Given the description of an element on the screen output the (x, y) to click on. 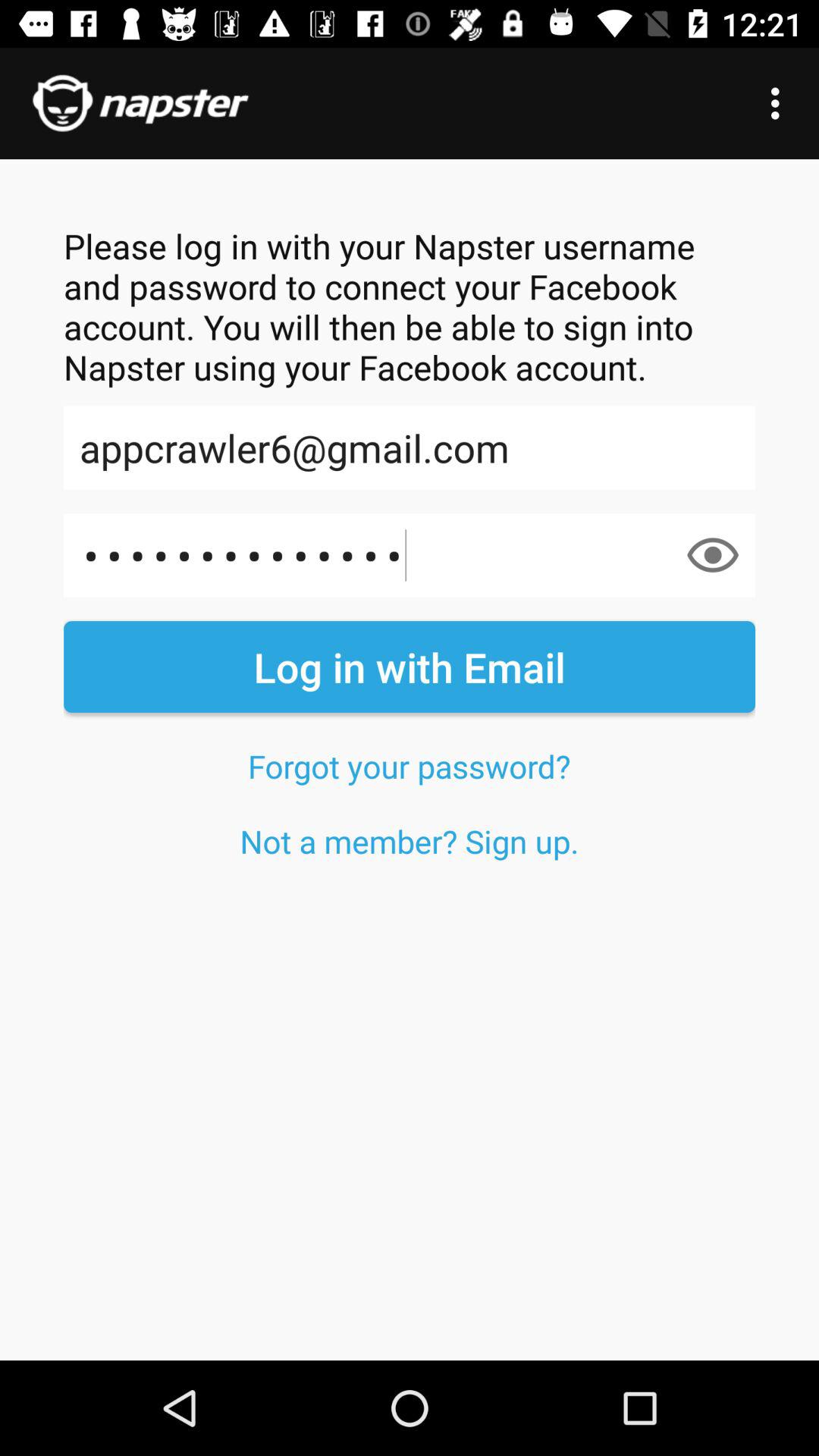
click the icon above log in with icon (712, 555)
